Given the description of an element on the screen output the (x, y) to click on. 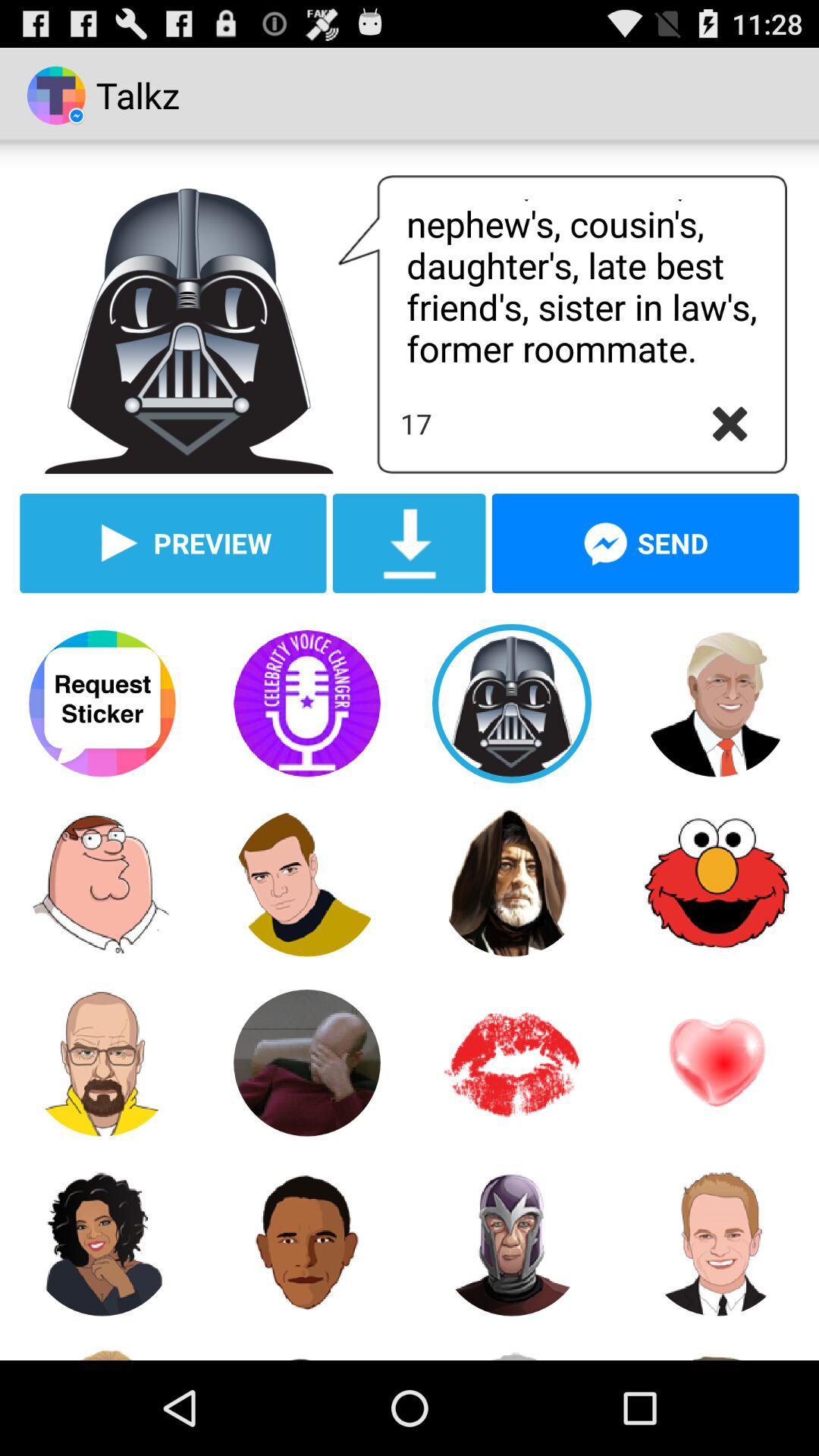
close (729, 423)
